Given the description of an element on the screen output the (x, y) to click on. 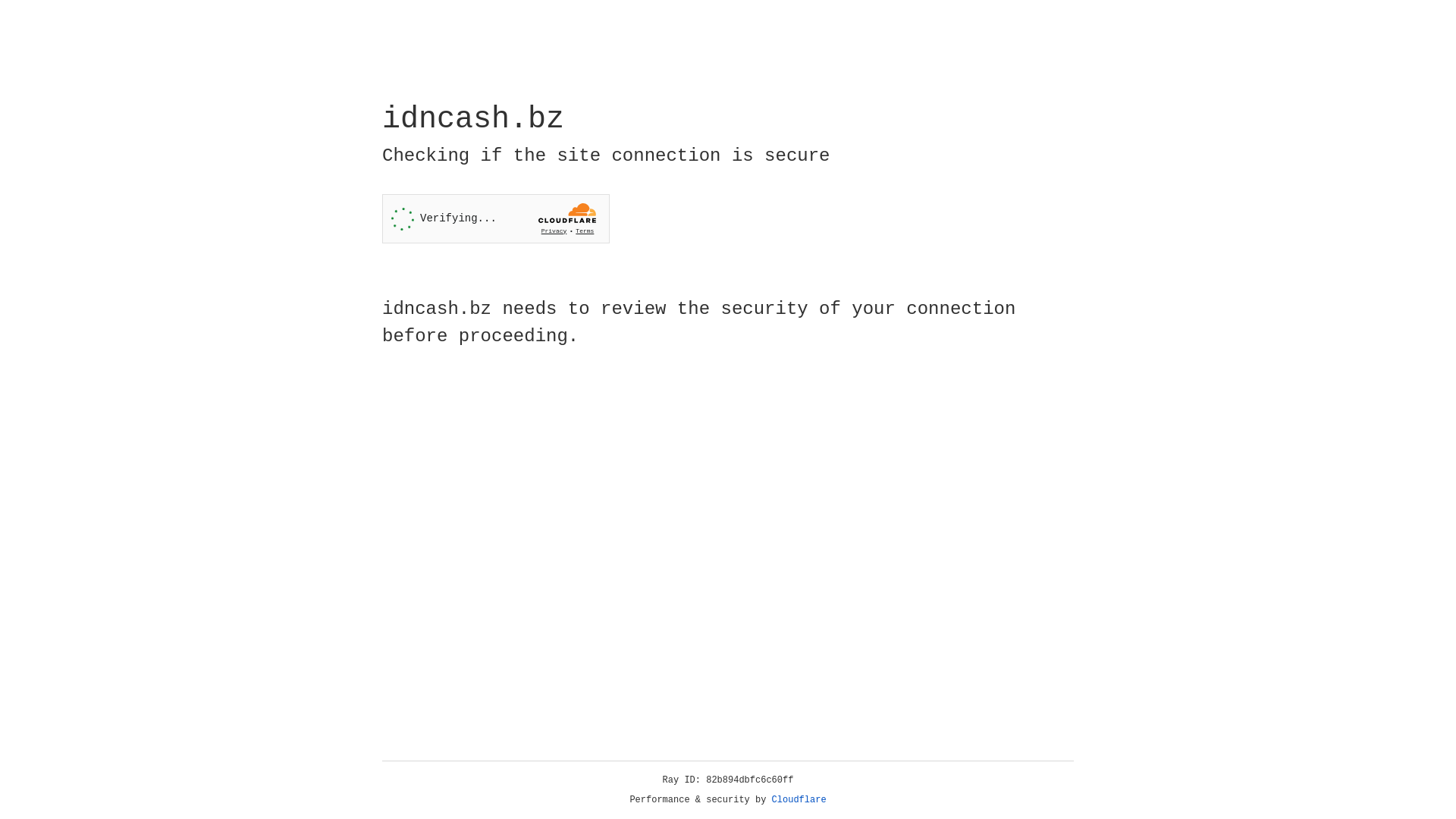
Widget containing a Cloudflare security challenge Element type: hover (495, 218)
Cloudflare Element type: text (798, 799)
